Given the description of an element on the screen output the (x, y) to click on. 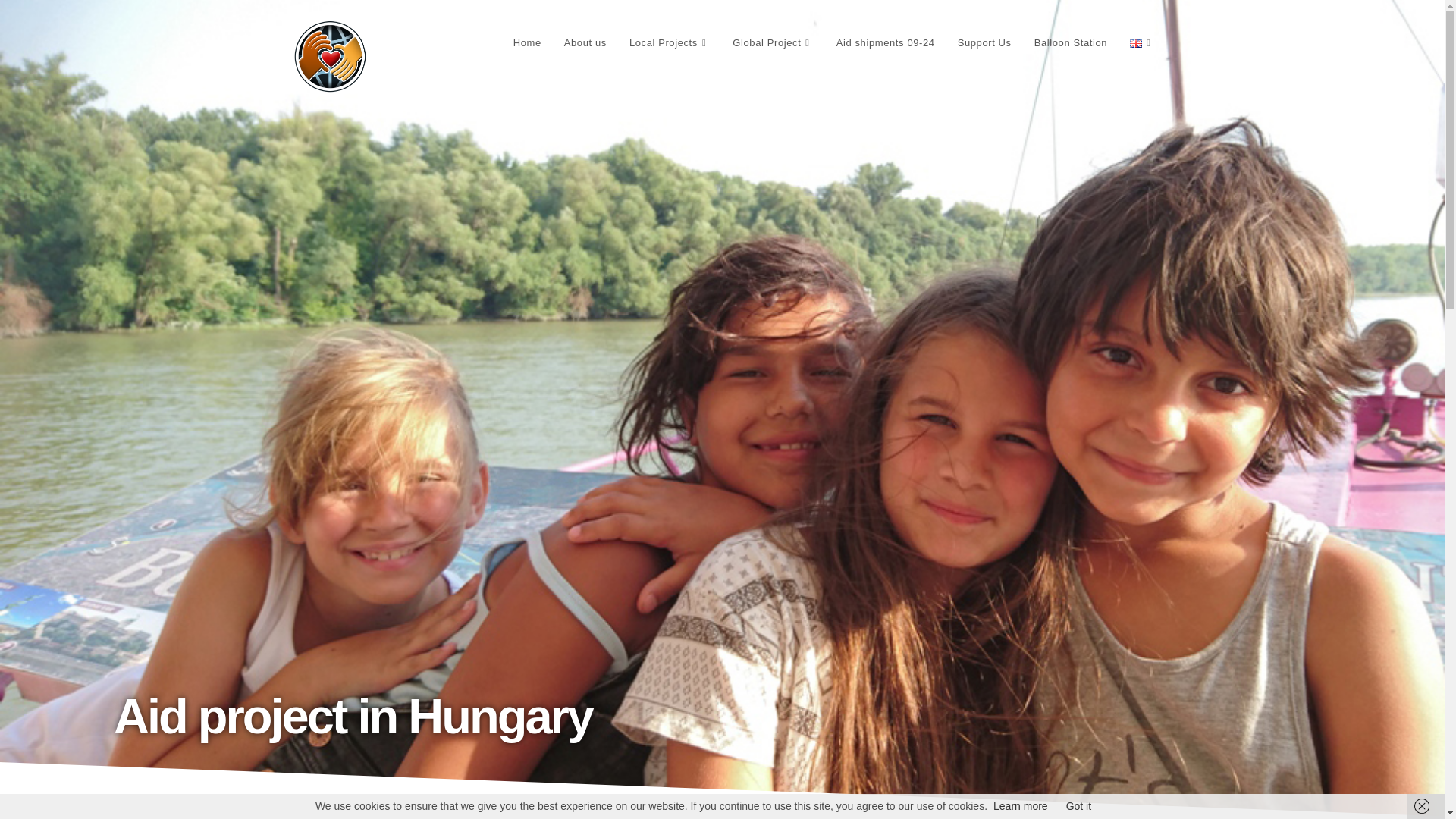
About us (585, 43)
Support Us (984, 43)
Aid shipments 09-24 (885, 43)
Local Projects (668, 43)
Home (527, 43)
Balloon Station (1070, 43)
Global Project (772, 43)
